Given the description of an element on the screen output the (x, y) to click on. 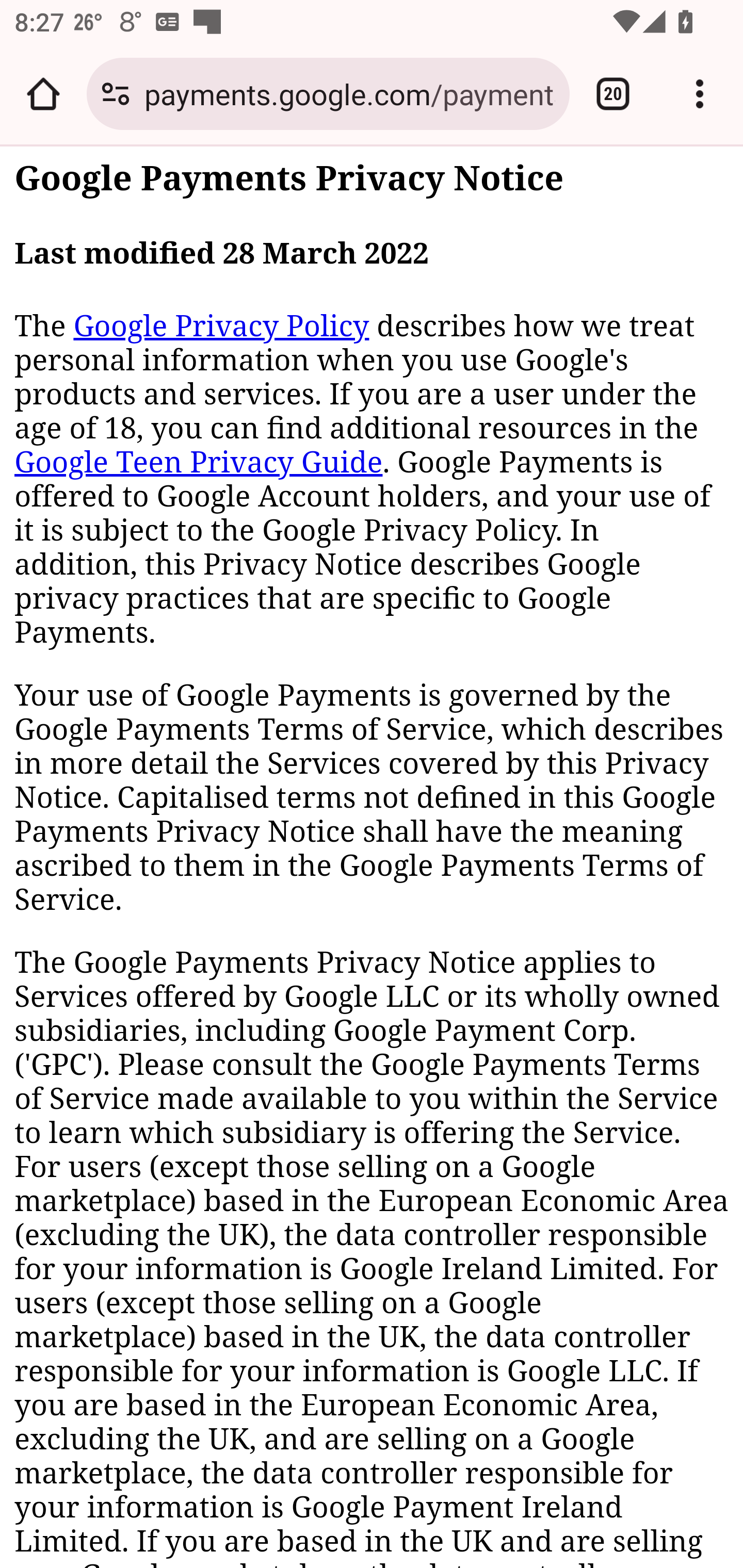
Open the home page (43, 93)
Connection is secure (115, 93)
Switch or close tabs (612, 93)
Customize and control Google Chrome (699, 93)
Google Privacy Policy (221, 326)
Google Teen Privacy Guide (199, 461)
